Given the description of an element on the screen output the (x, y) to click on. 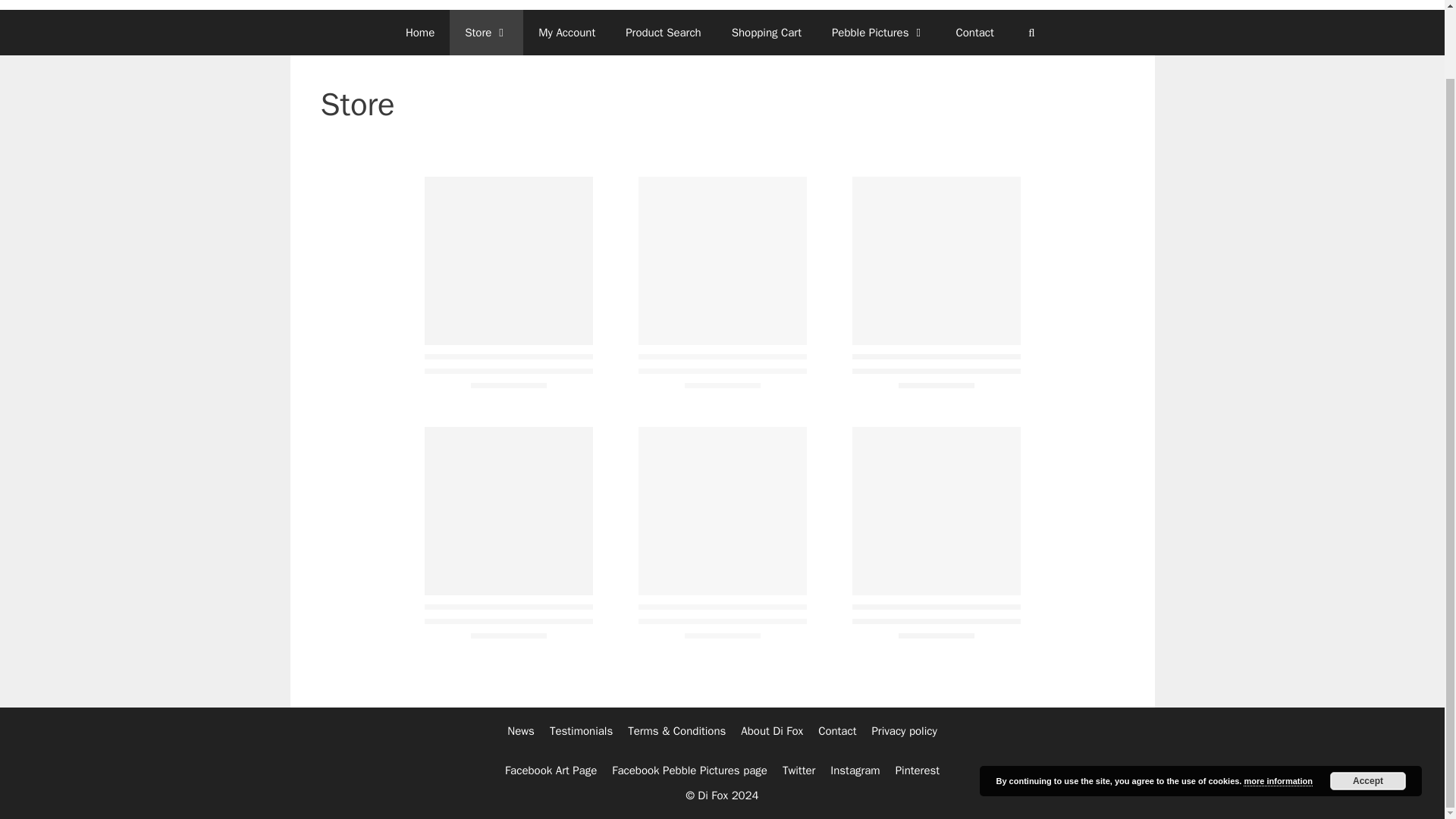
Pinterest (917, 770)
News (520, 730)
Facebook Art Page (550, 770)
Contact (837, 730)
My Account (566, 31)
Product Search (663, 31)
About Di Fox (772, 730)
Twitter (799, 770)
Store (485, 31)
Testimonials (581, 730)
